Given the description of an element on the screen output the (x, y) to click on. 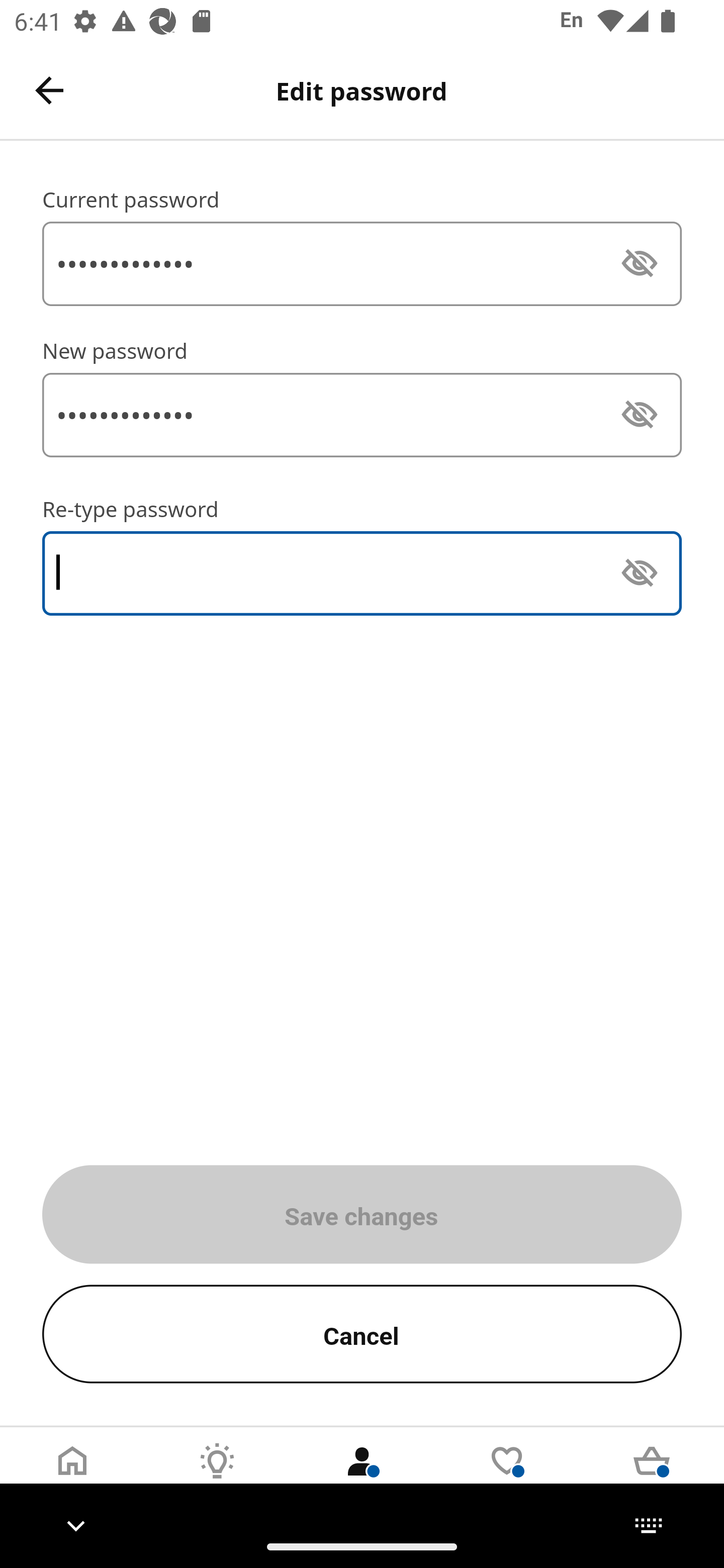
••••••••••••• (361, 263)
••••••••••••• (361, 415)
Save changes (361, 1214)
Cancel (361, 1333)
Home
Tab 1 of 5 (72, 1476)
Inspirations
Tab 2 of 5 (216, 1476)
User
Tab 3 of 5 (361, 1476)
Wishlist
Tab 4 of 5 (506, 1476)
Cart
Tab 5 of 5 (651, 1476)
